Given the description of an element on the screen output the (x, y) to click on. 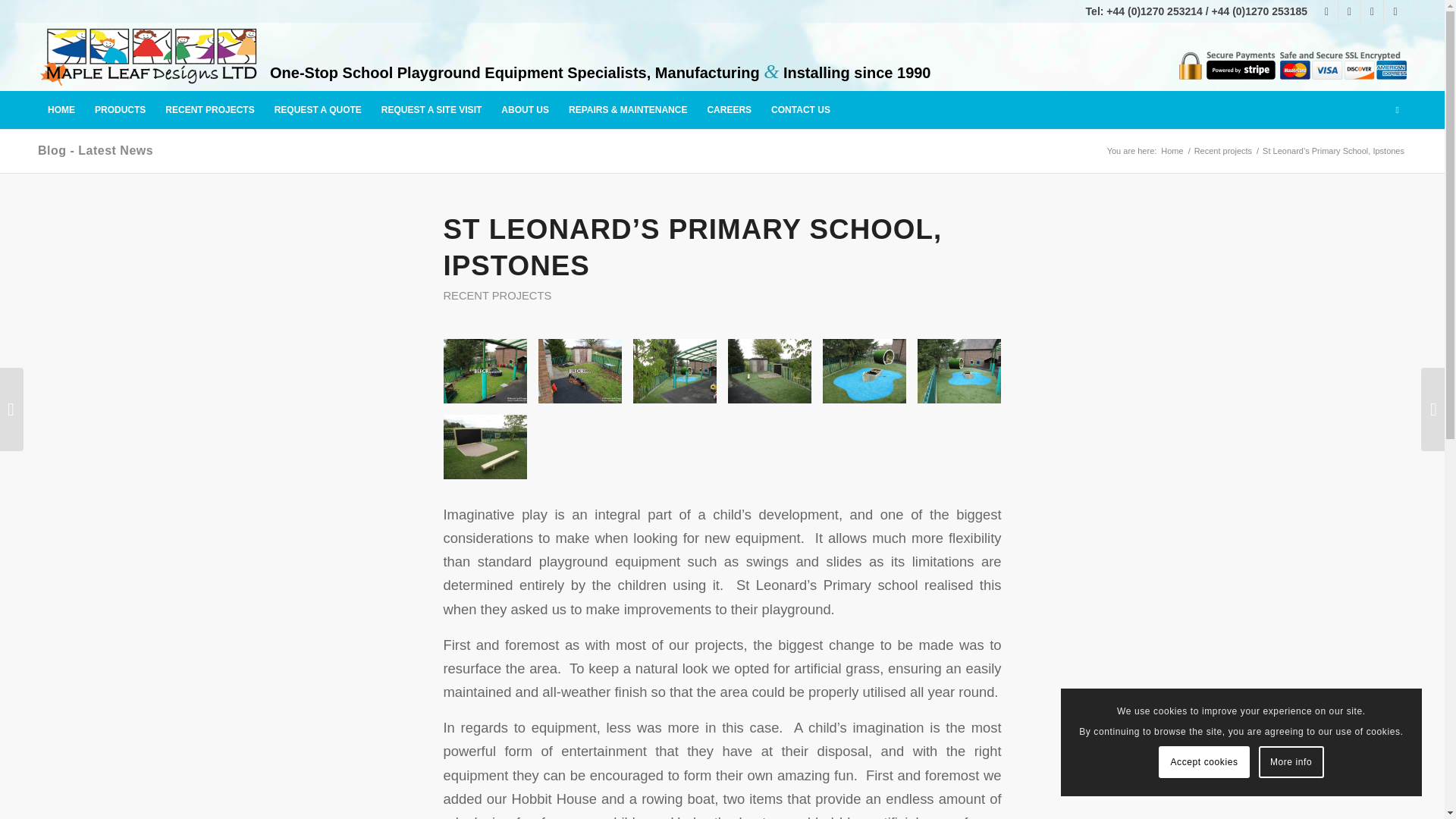
X (1372, 11)
Instagram (1348, 11)
Facebook (1327, 11)
HOME (60, 109)
Pinterest (1395, 11)
PRODUCTS (119, 109)
